Given the description of an element on the screen output the (x, y) to click on. 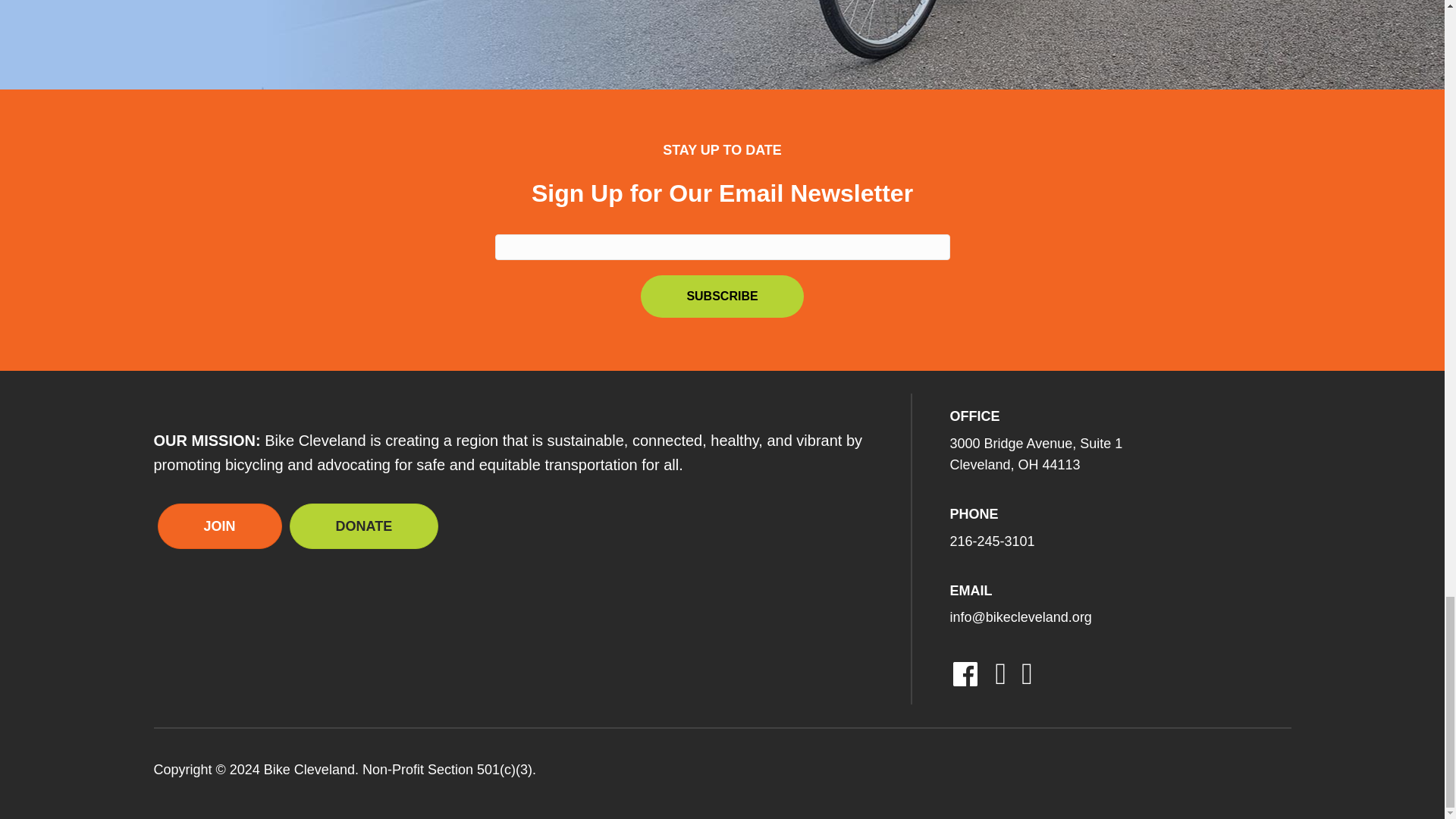
Subscribe (721, 296)
